Given the description of an element on the screen output the (x, y) to click on. 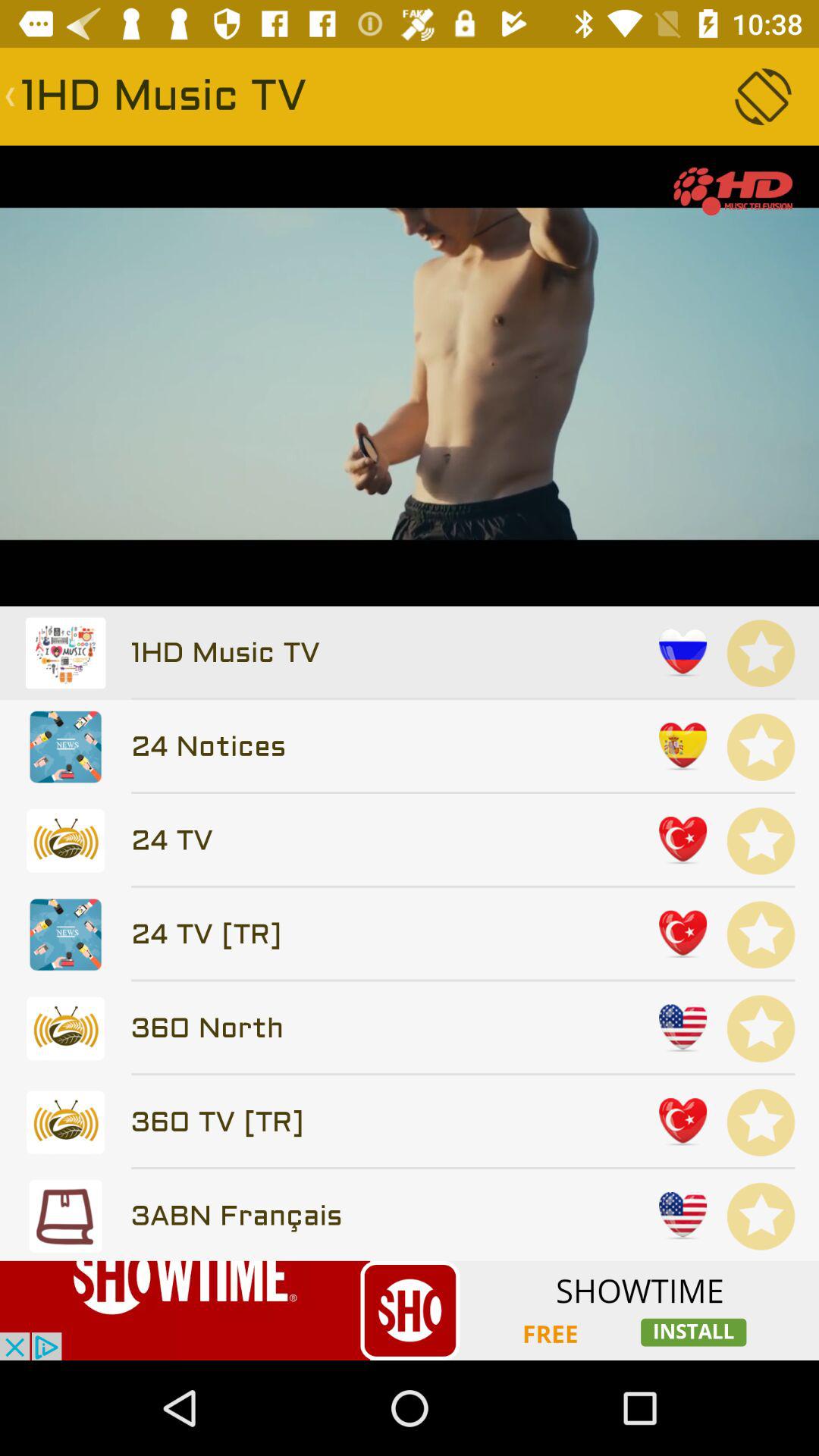
go to 6th line and click on left most icon below  the image (65, 1122)
